Given the description of an element on the screen output the (x, y) to click on. 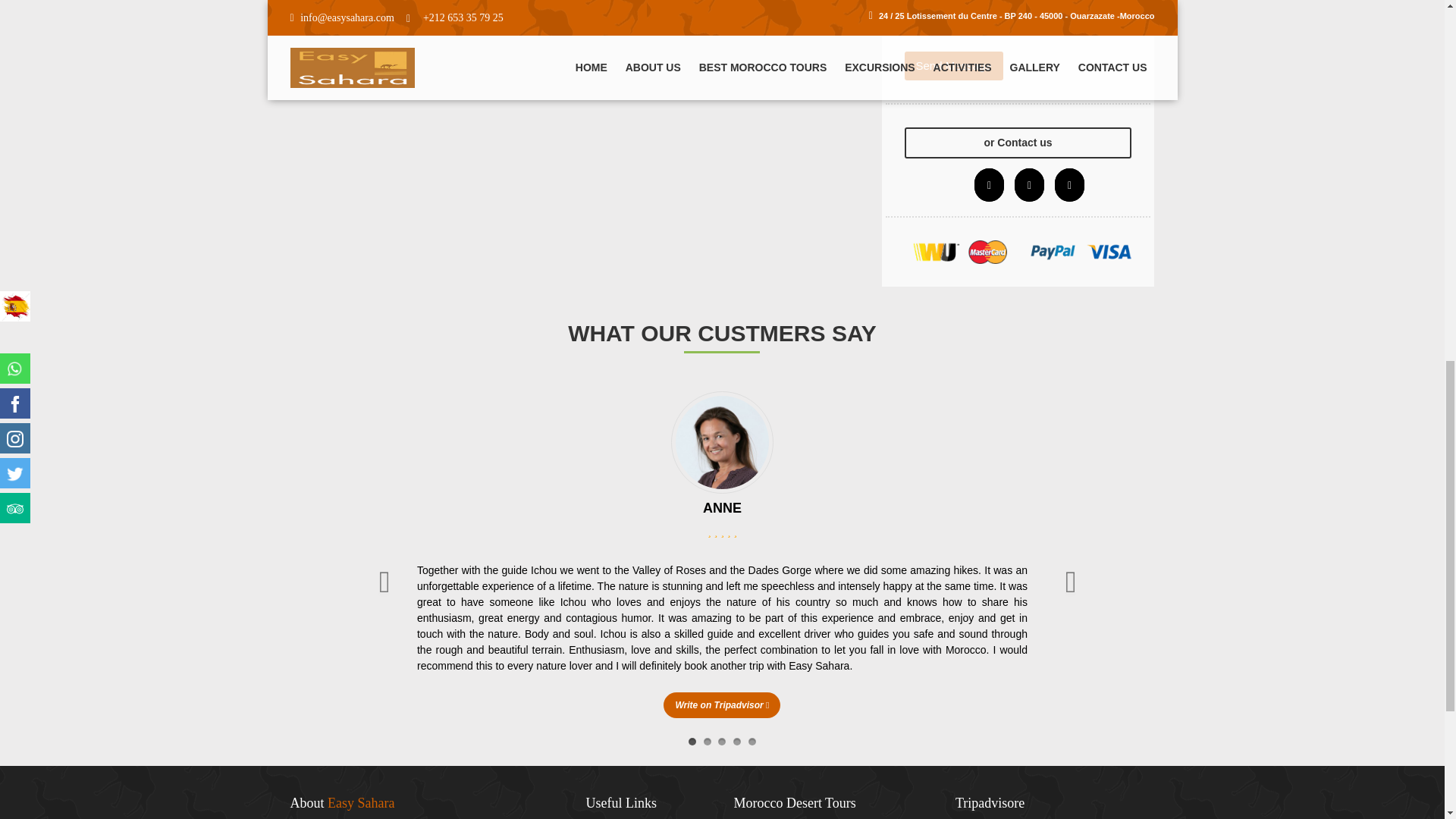
or Contact us (1017, 142)
Write on Tripadvisor (721, 705)
Send Message (953, 66)
